Given the description of an element on the screen output the (x, y) to click on. 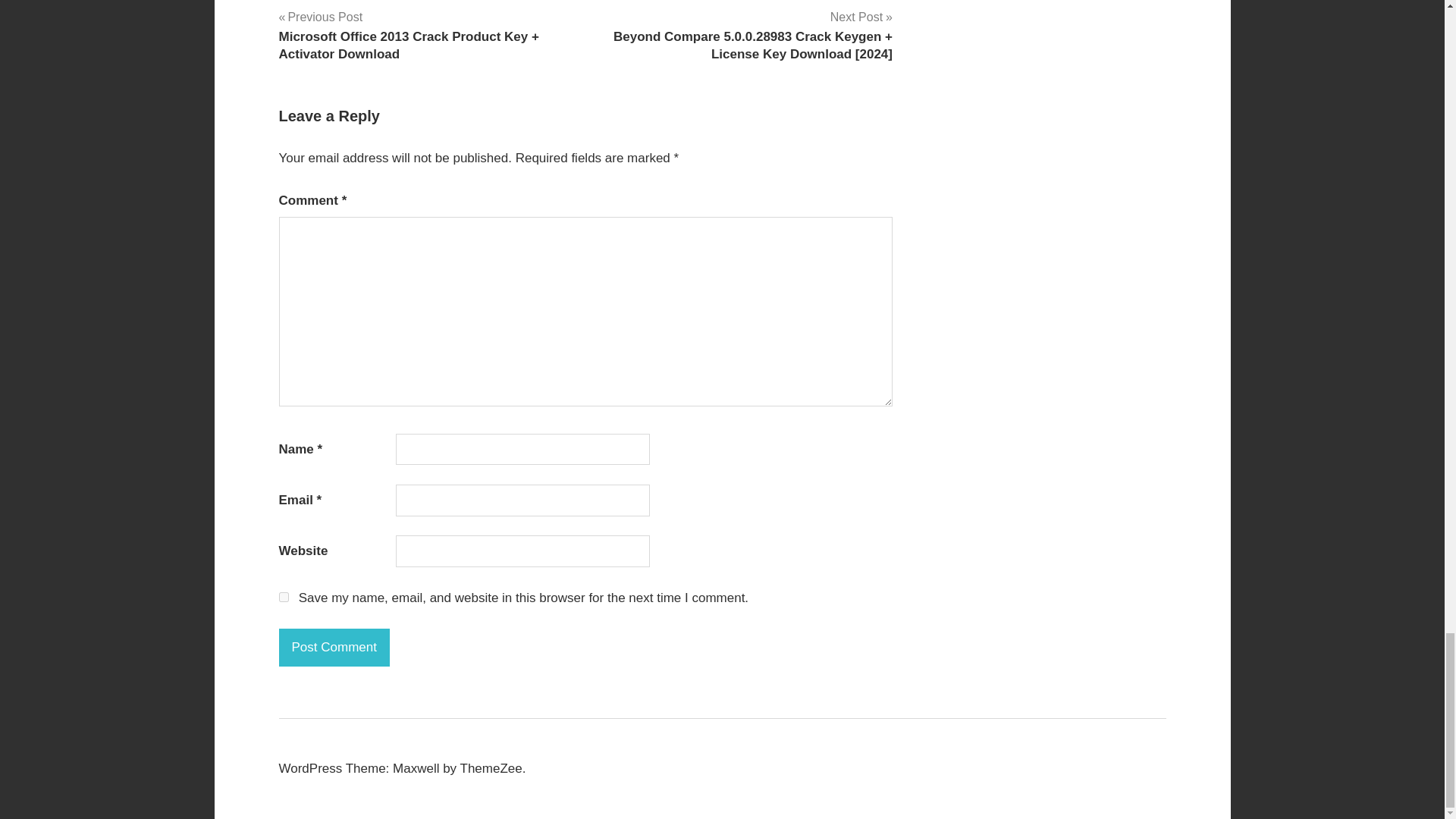
Post Comment (334, 647)
Post Comment (334, 647)
yes (283, 596)
